Given the description of an element on the screen output the (x, y) to click on. 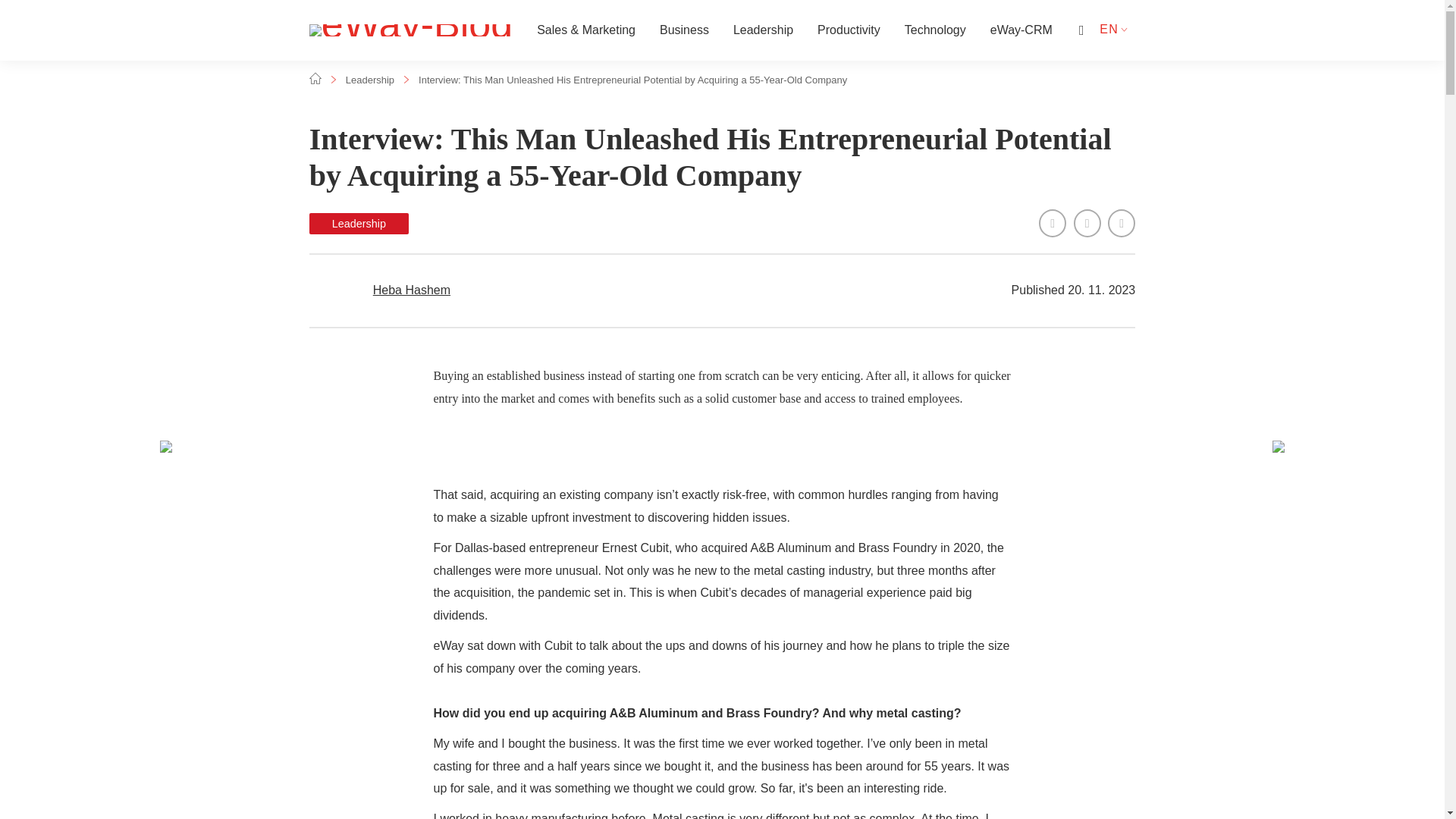
Business (684, 30)
Leadership (370, 79)
Back to Blog Homepage (410, 30)
Heba Hashem (410, 290)
Technology (935, 30)
Productivity (848, 30)
eWay-CRM (1021, 30)
EN (1110, 29)
Leadership (515, 223)
Leadership (763, 30)
